Given the description of an element on the screen output the (x, y) to click on. 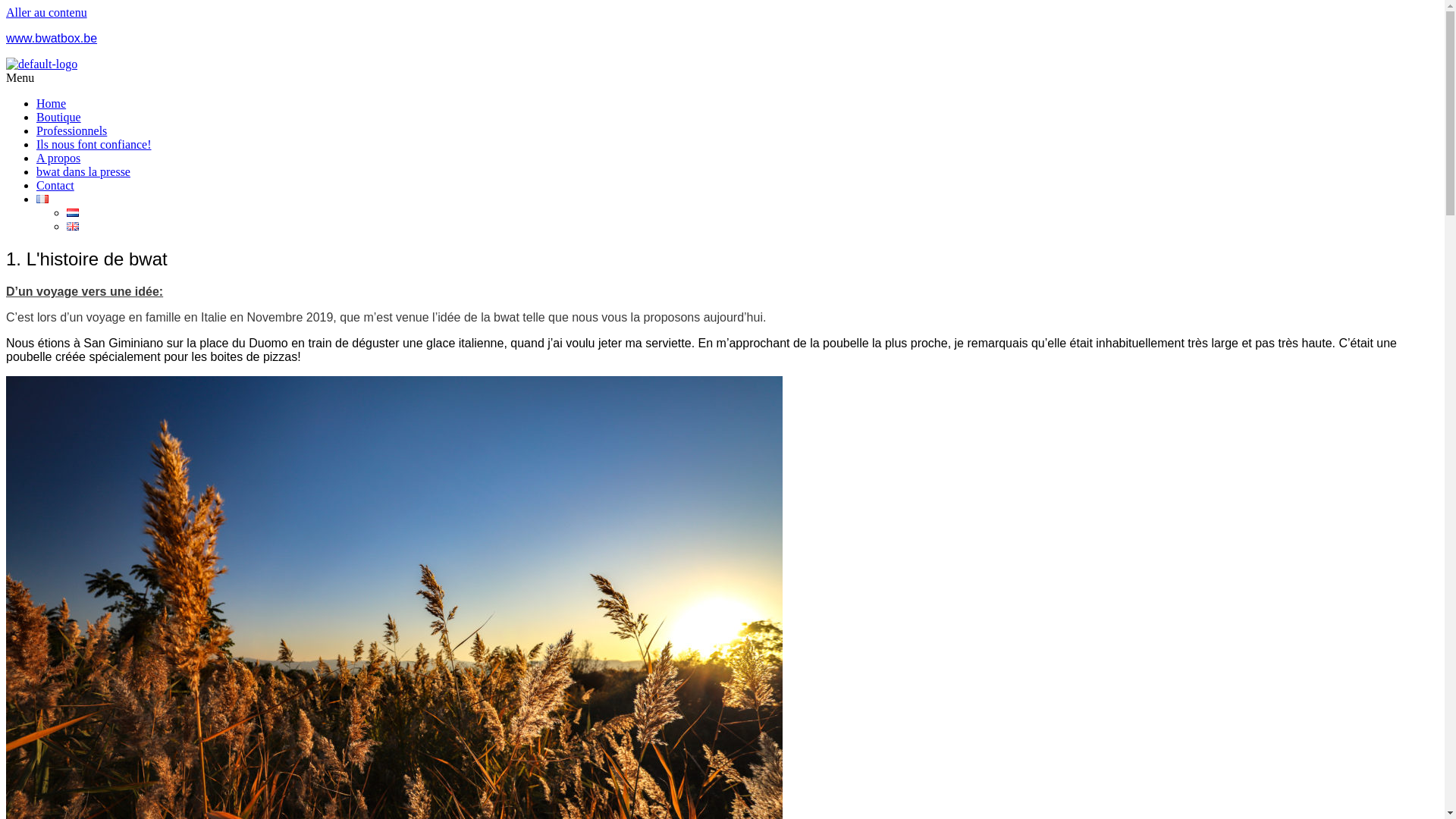
Ils nous font confiance! Element type: text (93, 144)
Home Element type: text (50, 103)
bwat dans la presse Element type: text (83, 171)
Boutique Element type: text (58, 116)
A propos Element type: text (58, 157)
Contact Element type: text (55, 184)
Professionnels Element type: text (71, 130)
Aller au contenu Element type: text (46, 12)
www.bwatbox.be Element type: text (51, 37)
